Given the description of an element on the screen output the (x, y) to click on. 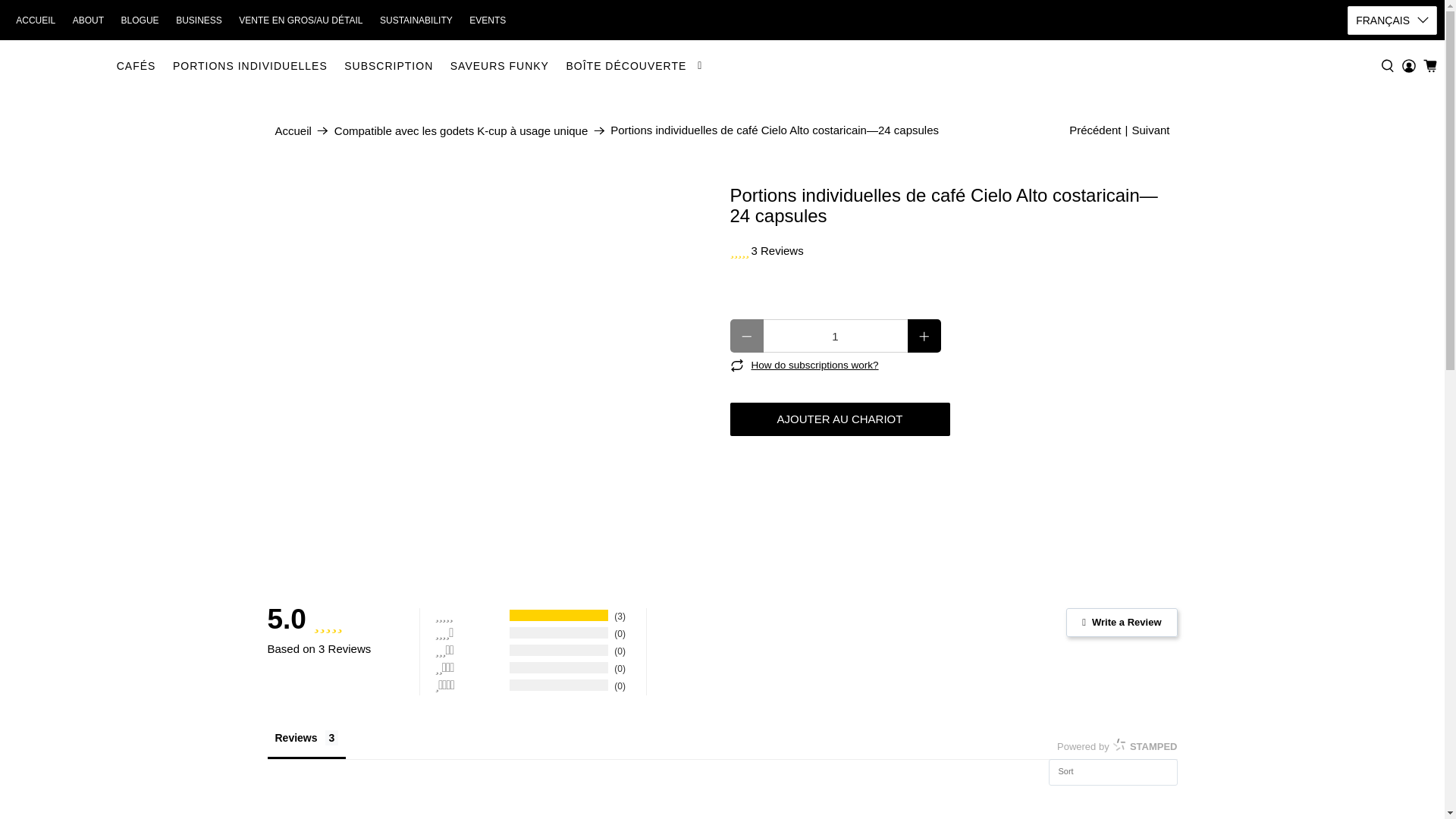
PORTIONS INDIVIDUELLES (250, 65)
en (1391, 53)
fr (1391, 81)
SAVEURS FUNKY (499, 65)
Zavida Coffee (57, 65)
EVENTS (488, 19)
SUBSCRIPTION (389, 65)
ABOUT (88, 19)
Zavida Coffee (293, 130)
ACCUEIL (35, 19)
